Given the description of an element on the screen output the (x, y) to click on. 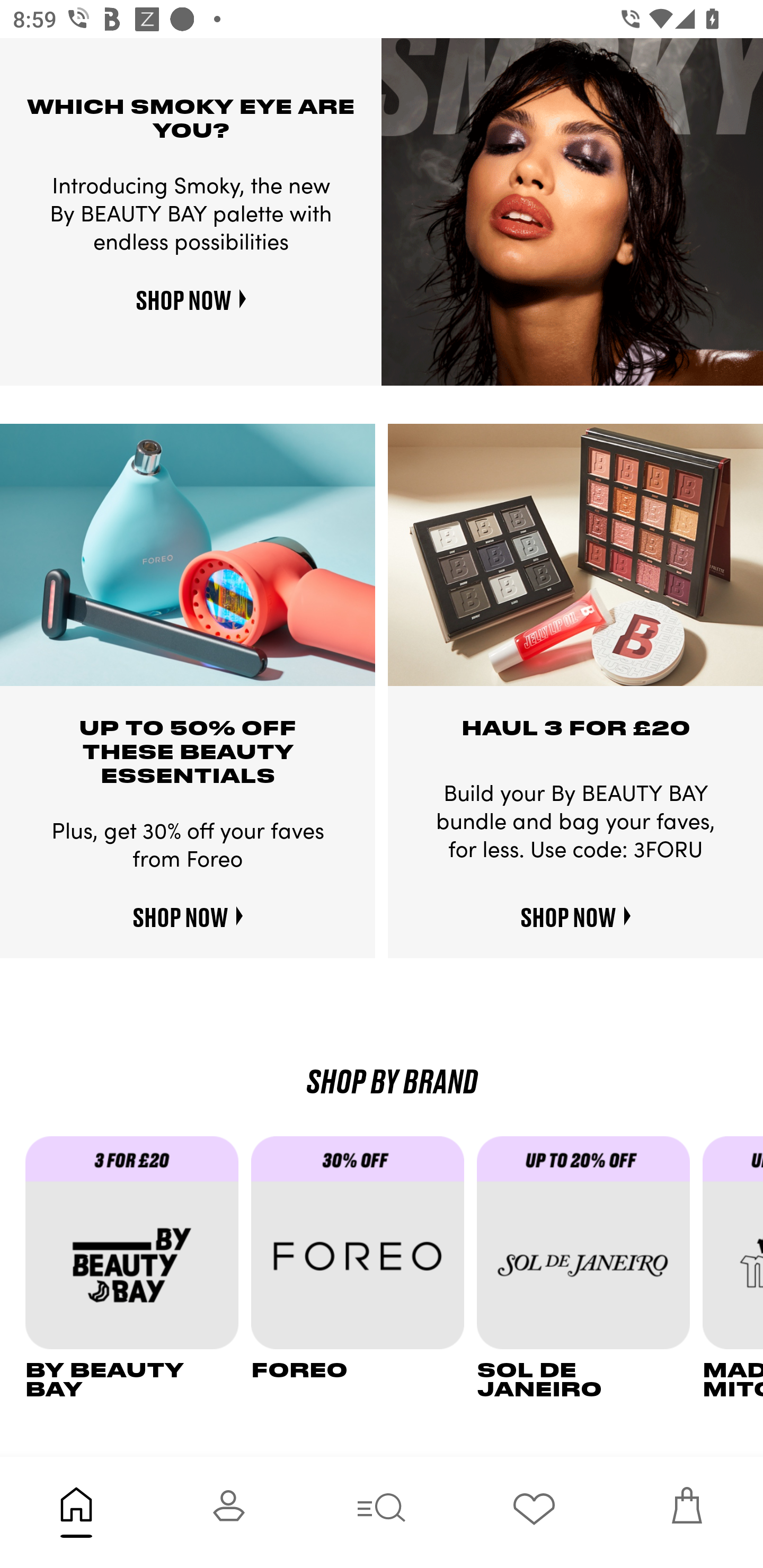
BY BEAUTY BAY (138, 1268)
FOREO (363, 1268)
SOL DE JANEIRO (589, 1268)
